Given the description of an element on the screen output the (x, y) to click on. 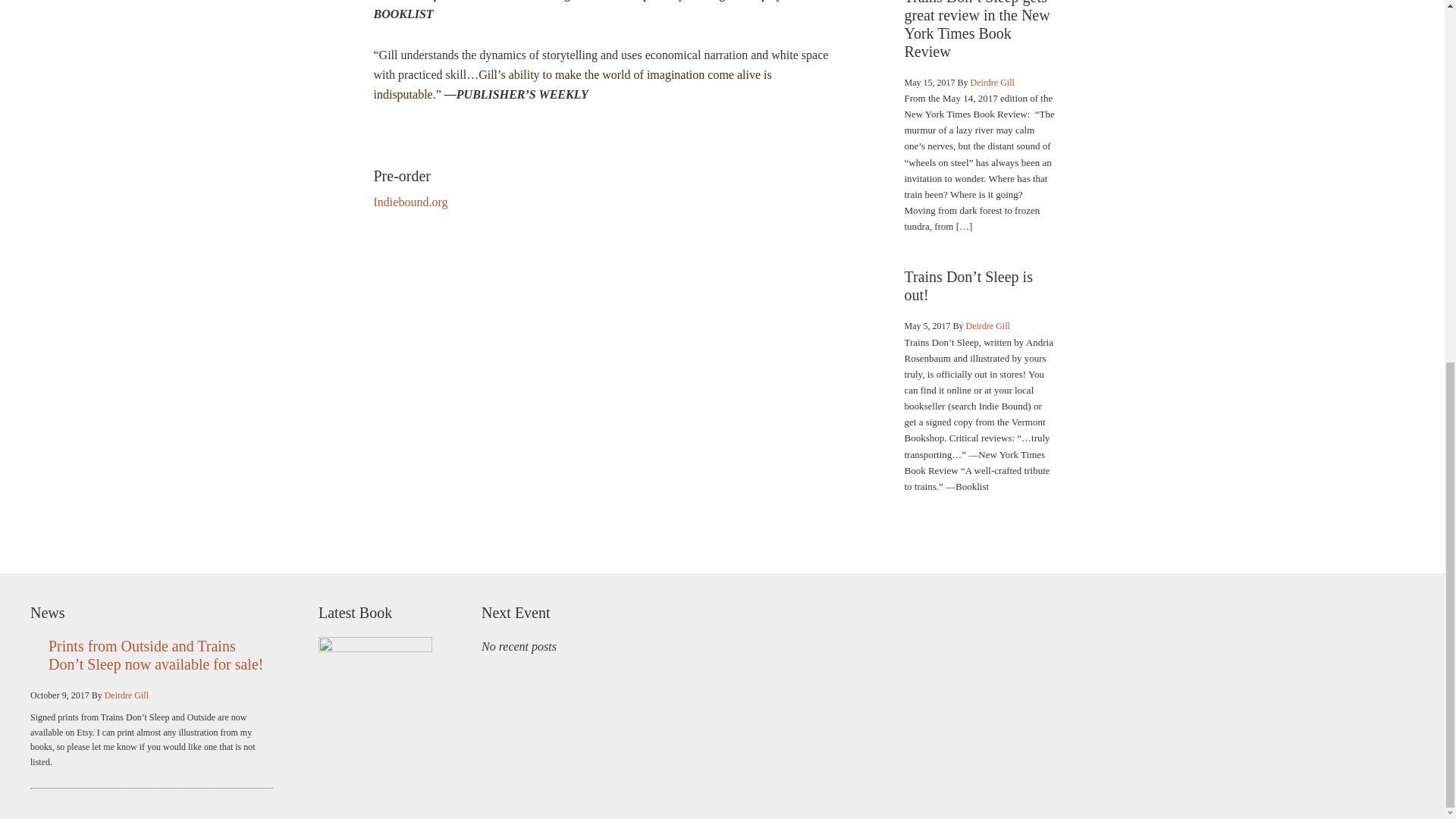
Deirdre Gill (126, 695)
Purchase from your local bookseller (409, 201)
Indiebound.org (409, 201)
Deirdre Gill (988, 326)
Deirdre Gill (992, 81)
